Given the description of an element on the screen output the (x, y) to click on. 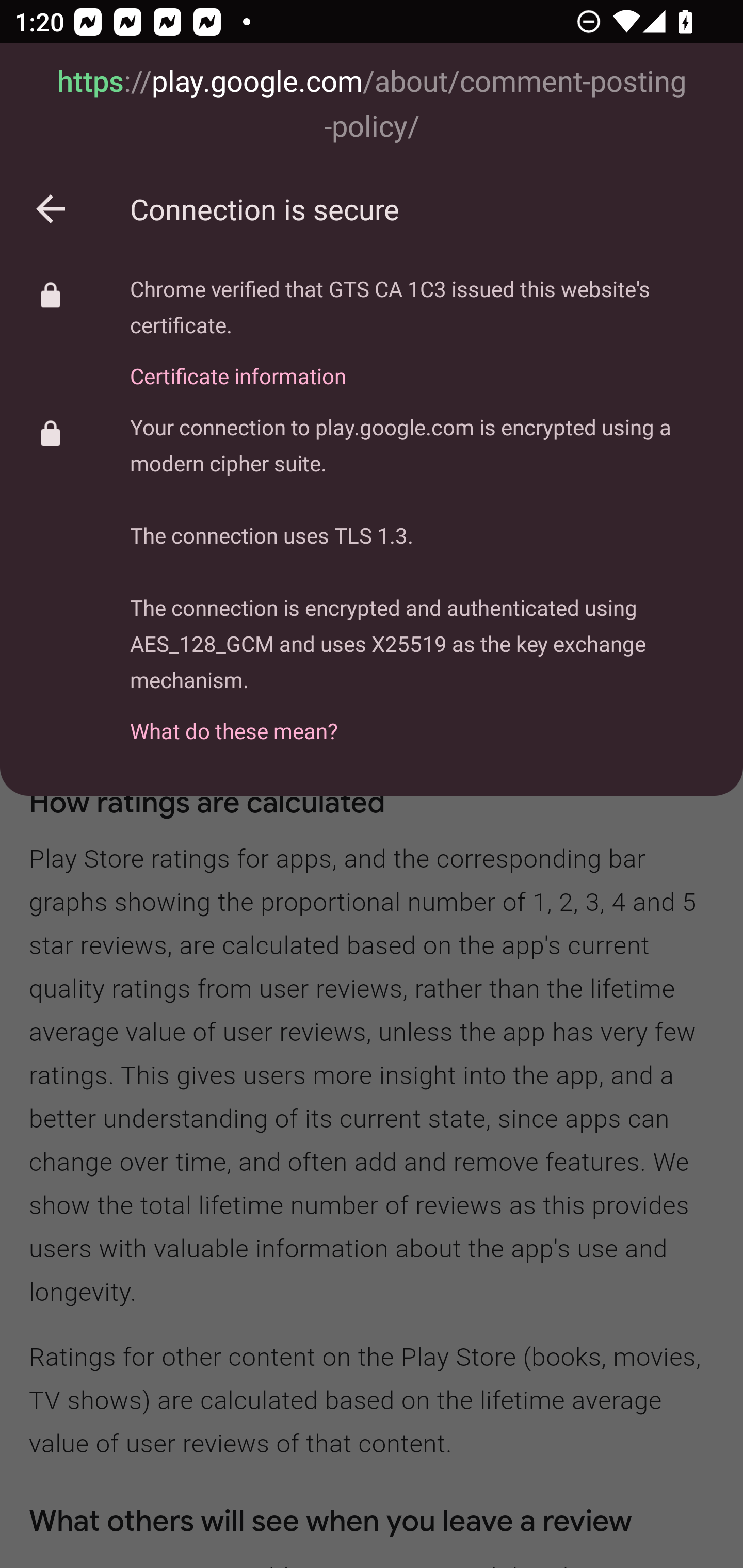
Back (50, 209)
Certificate information (422, 364)
What do these mean? (422, 719)
